Given the description of an element on the screen output the (x, y) to click on. 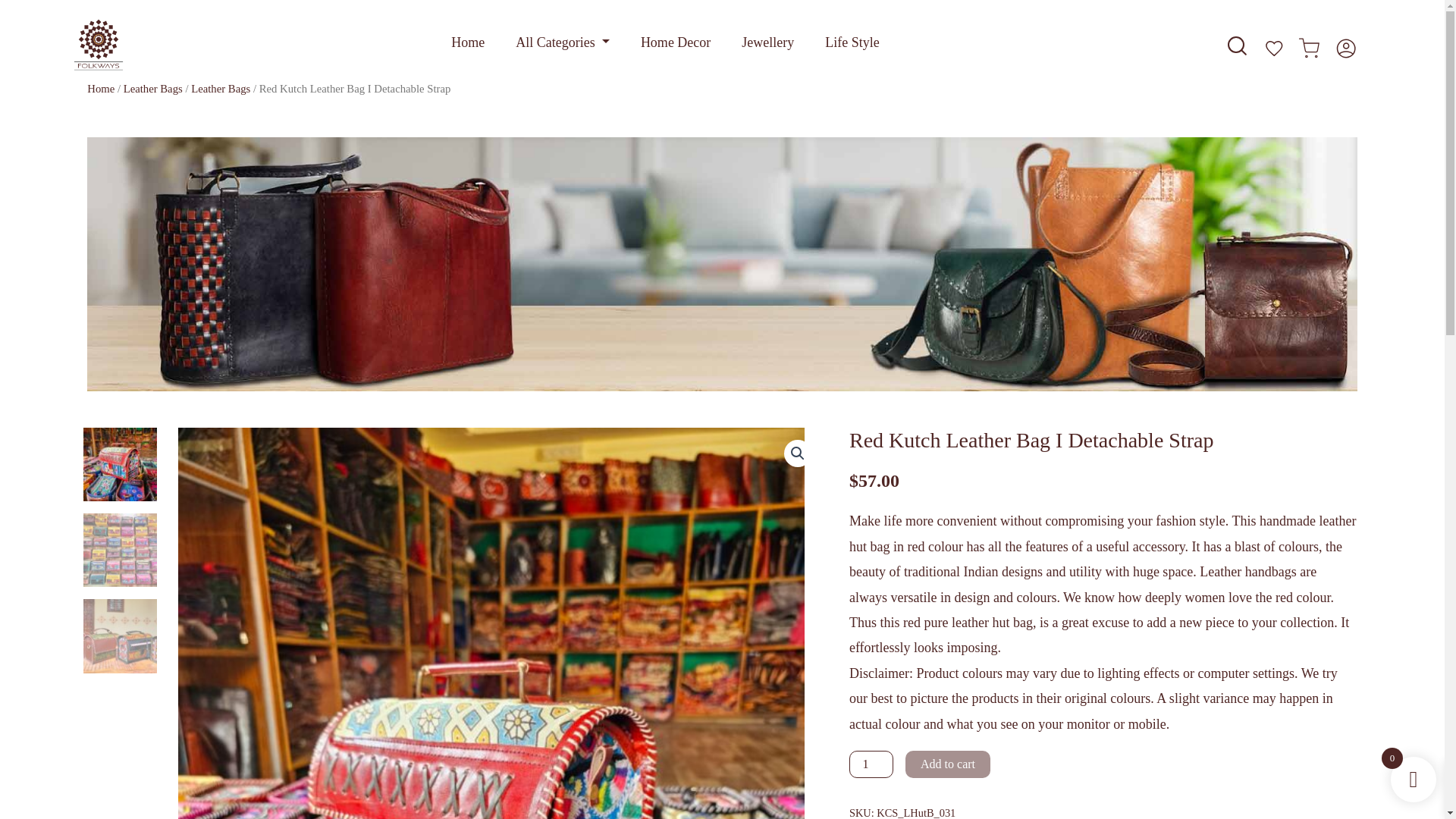
Add to cart (947, 764)
Life Style (851, 42)
Home Decor (675, 42)
1 (870, 764)
Home (101, 88)
All Categories (562, 42)
Leather Bags (153, 88)
Leather Bags (220, 88)
Home (467, 42)
Jewellery (767, 42)
